Given the description of an element on the screen output the (x, y) to click on. 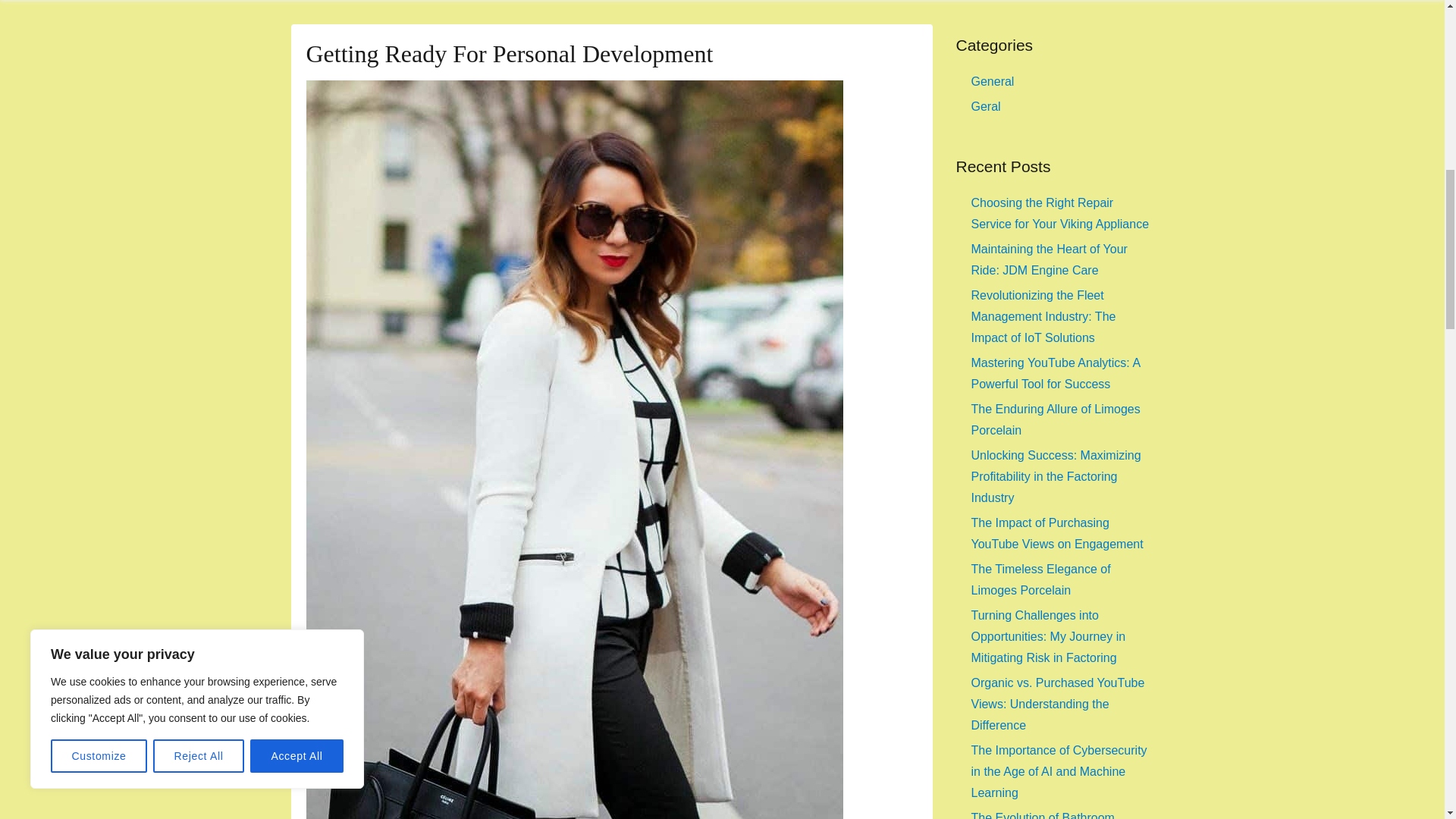
General (992, 81)
Maintaining the Heart of Your Ride: JDM Engine Care (1048, 259)
Geral (985, 106)
Mastering YouTube Analytics: A Powerful Tool for Success (1055, 373)
Choosing the Right Repair Service for Your Viking Appliance (1059, 213)
